Given the description of an element on the screen output the (x, y) to click on. 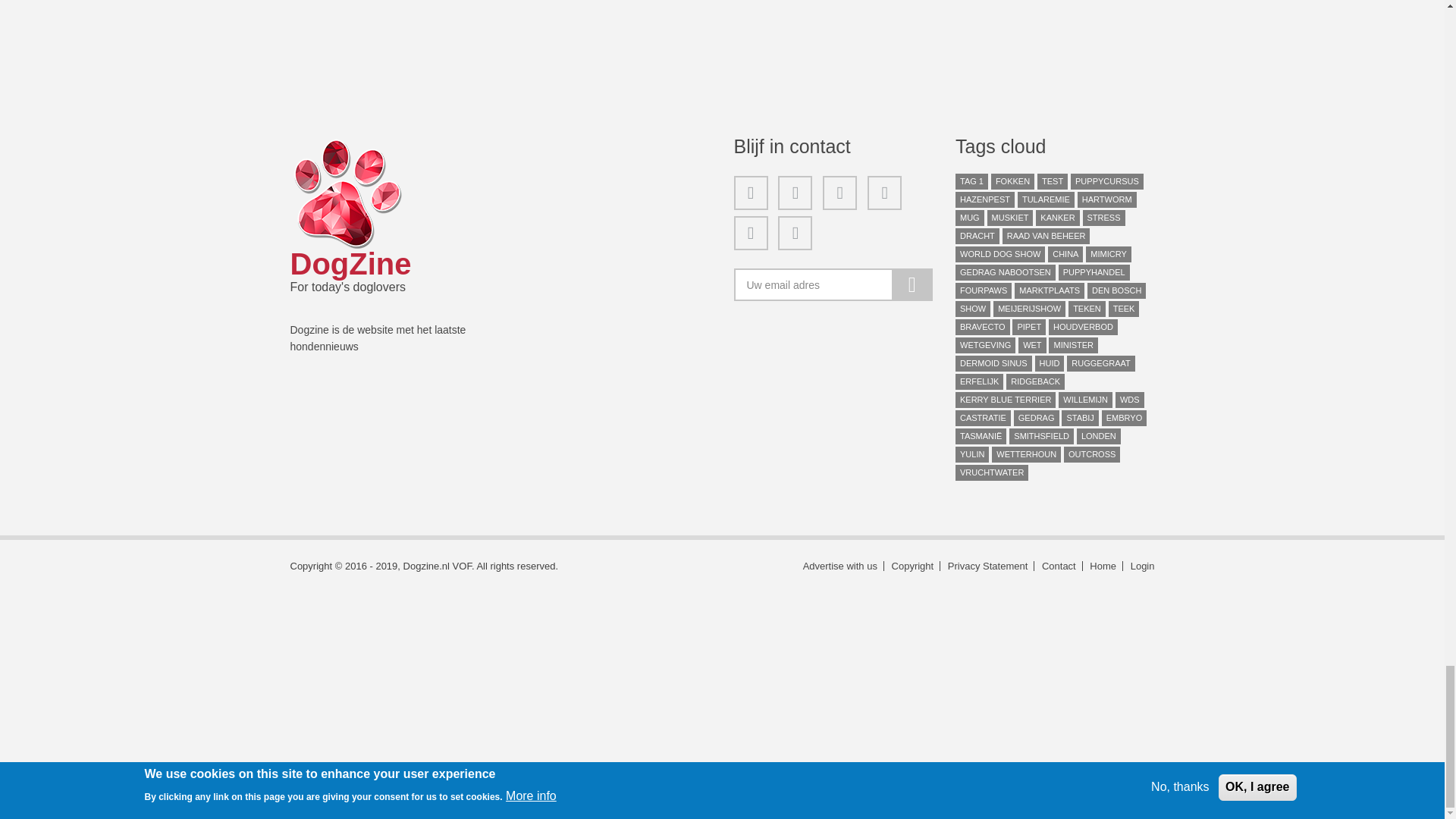
Uw email adres (833, 284)
